Given the description of an element on the screen output the (x, y) to click on. 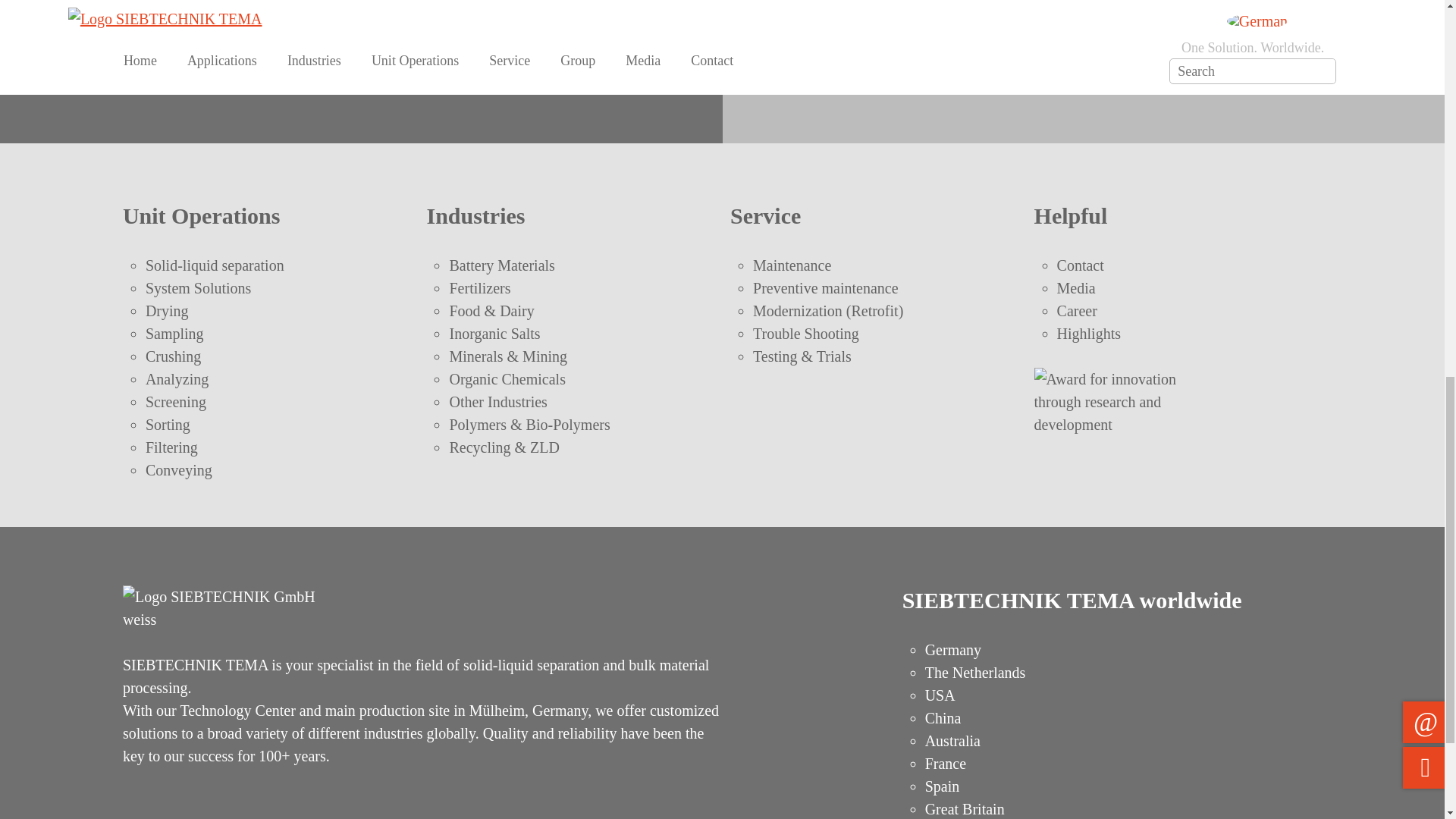
Media (1076, 288)
Contact (1080, 265)
Fertilizers (479, 288)
Battery Materials (501, 265)
Inorganic Salts (494, 333)
Organic Chemicals (506, 379)
Other Industries (497, 401)
